Given the description of an element on the screen output the (x, y) to click on. 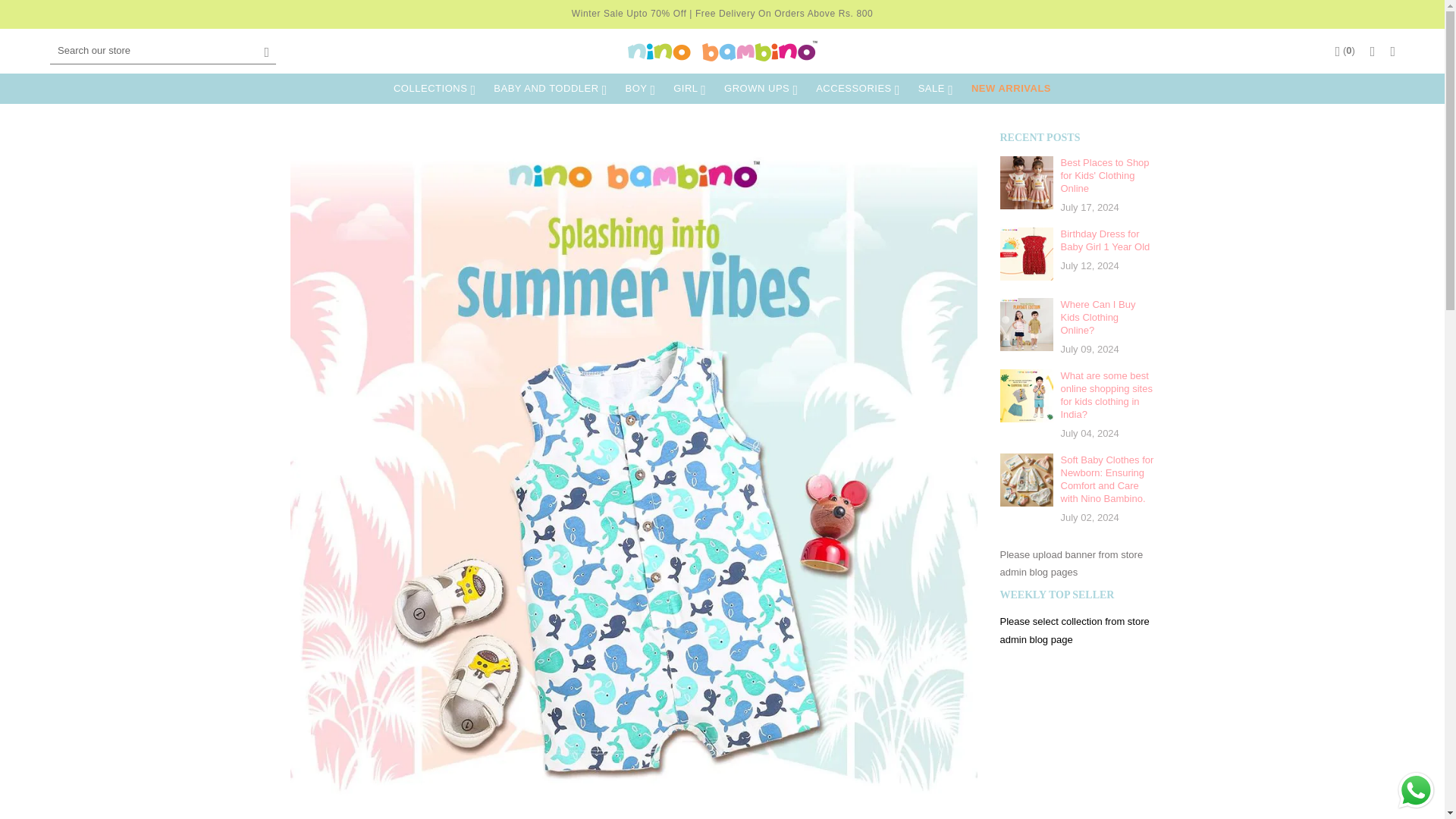
Cart (1345, 49)
Login (1392, 49)
